Given the description of an element on the screen output the (x, y) to click on. 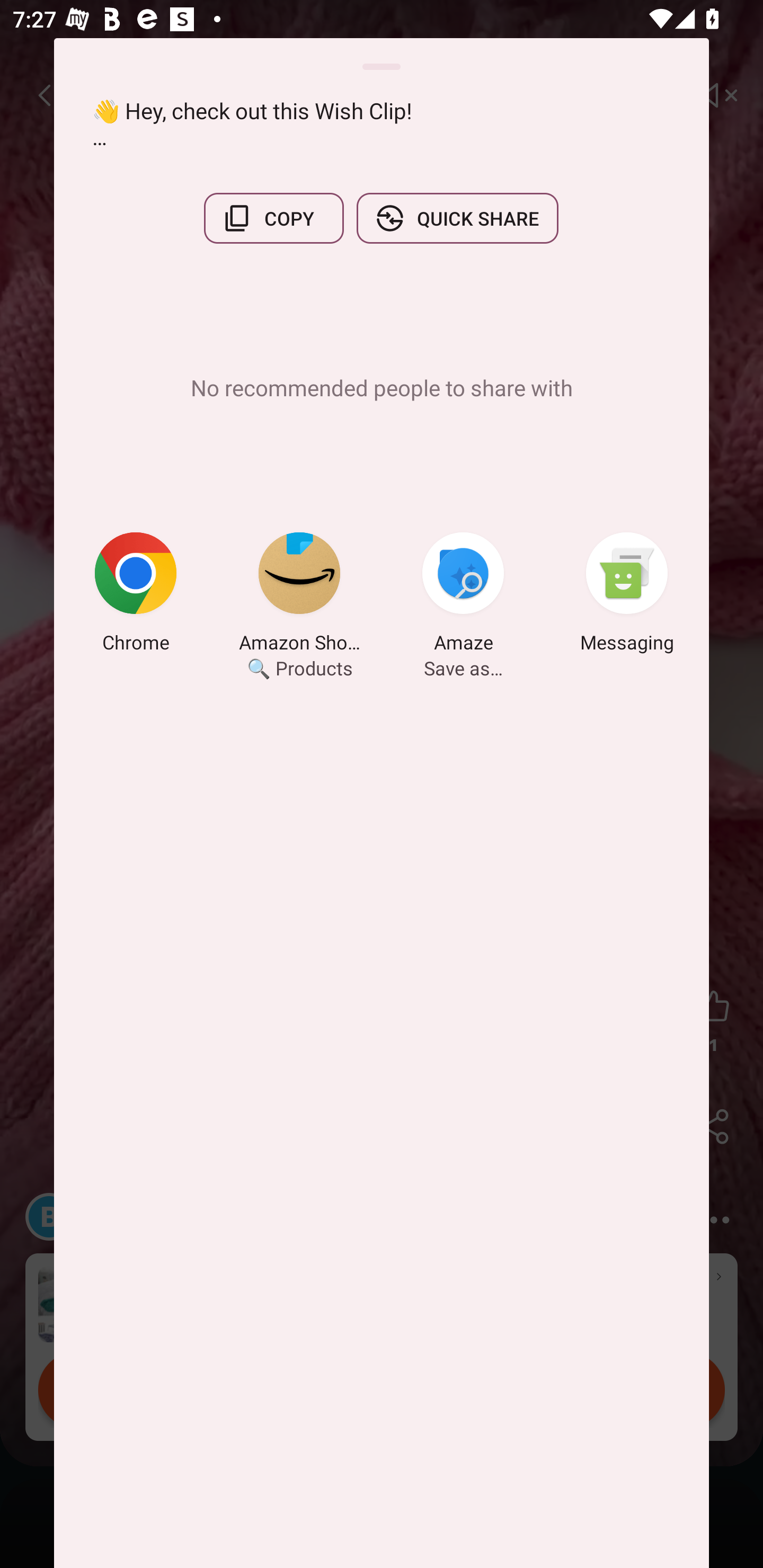
COPY (273, 218)
QUICK SHARE (457, 218)
Chrome (135, 594)
Amazon Shopping 🔍 Products (299, 594)
Amaze Save as… (463, 594)
Messaging (626, 594)
